Given the description of an element on the screen output the (x, y) to click on. 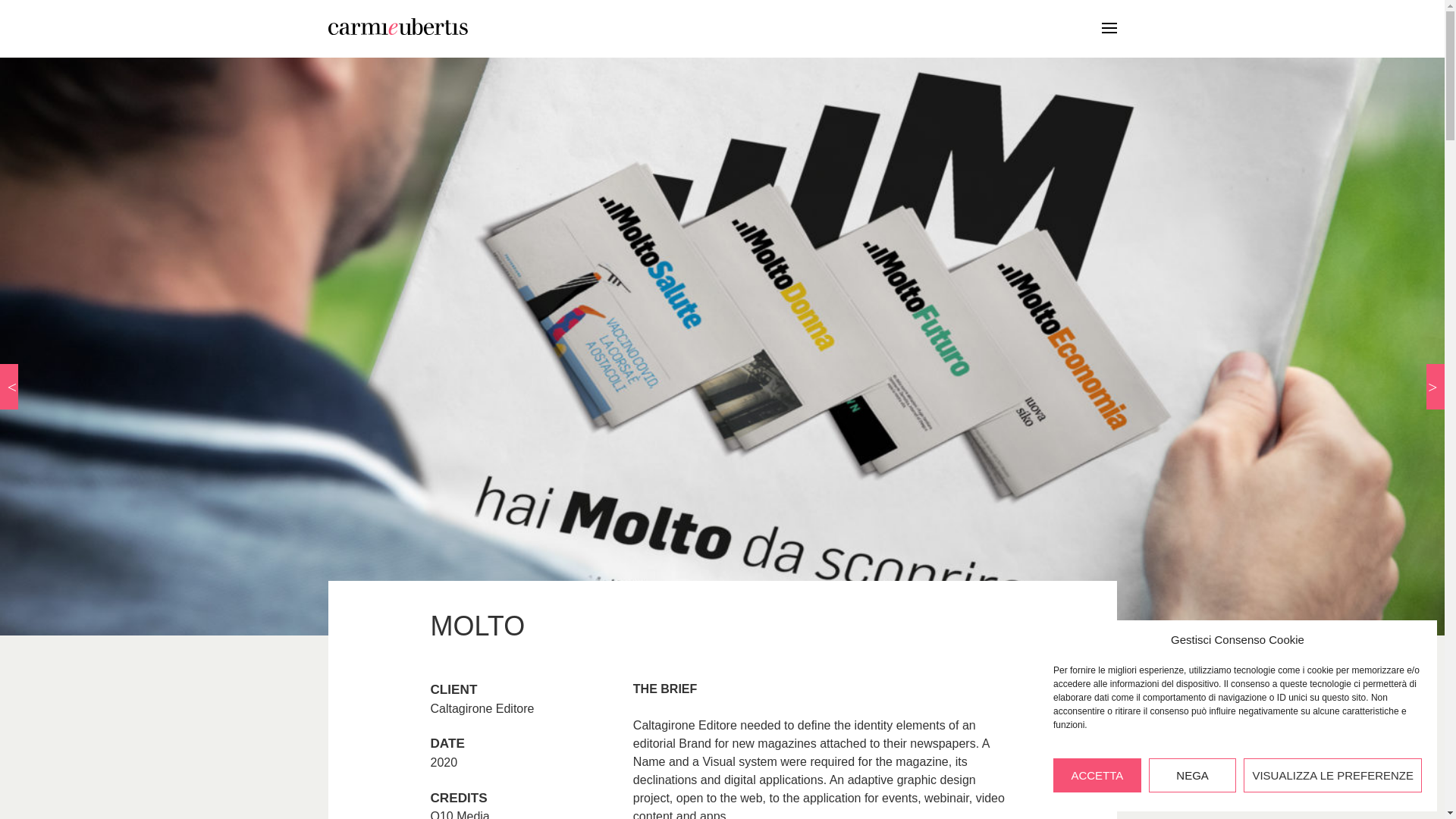
CARMI E UBERTIS (642, 26)
ACCETTA (1096, 775)
VISUALIZZA LE PREFERENZE (1332, 775)
NEGA (1192, 775)
